Given the description of an element on the screen output the (x, y) to click on. 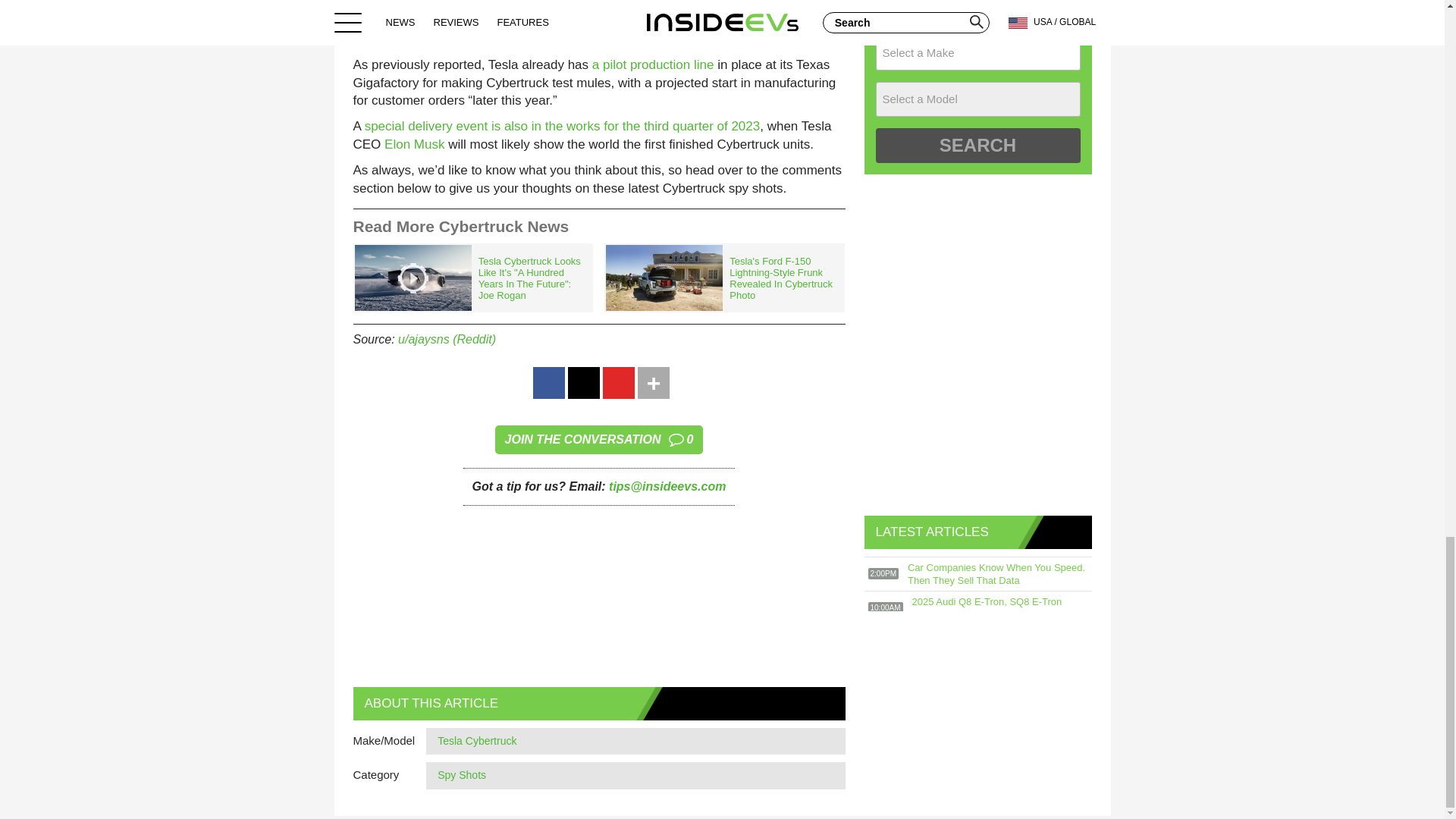
Search (977, 144)
Elon Musk (414, 144)
a pilot production line (653, 64)
